Given the description of an element on the screen output the (x, y) to click on. 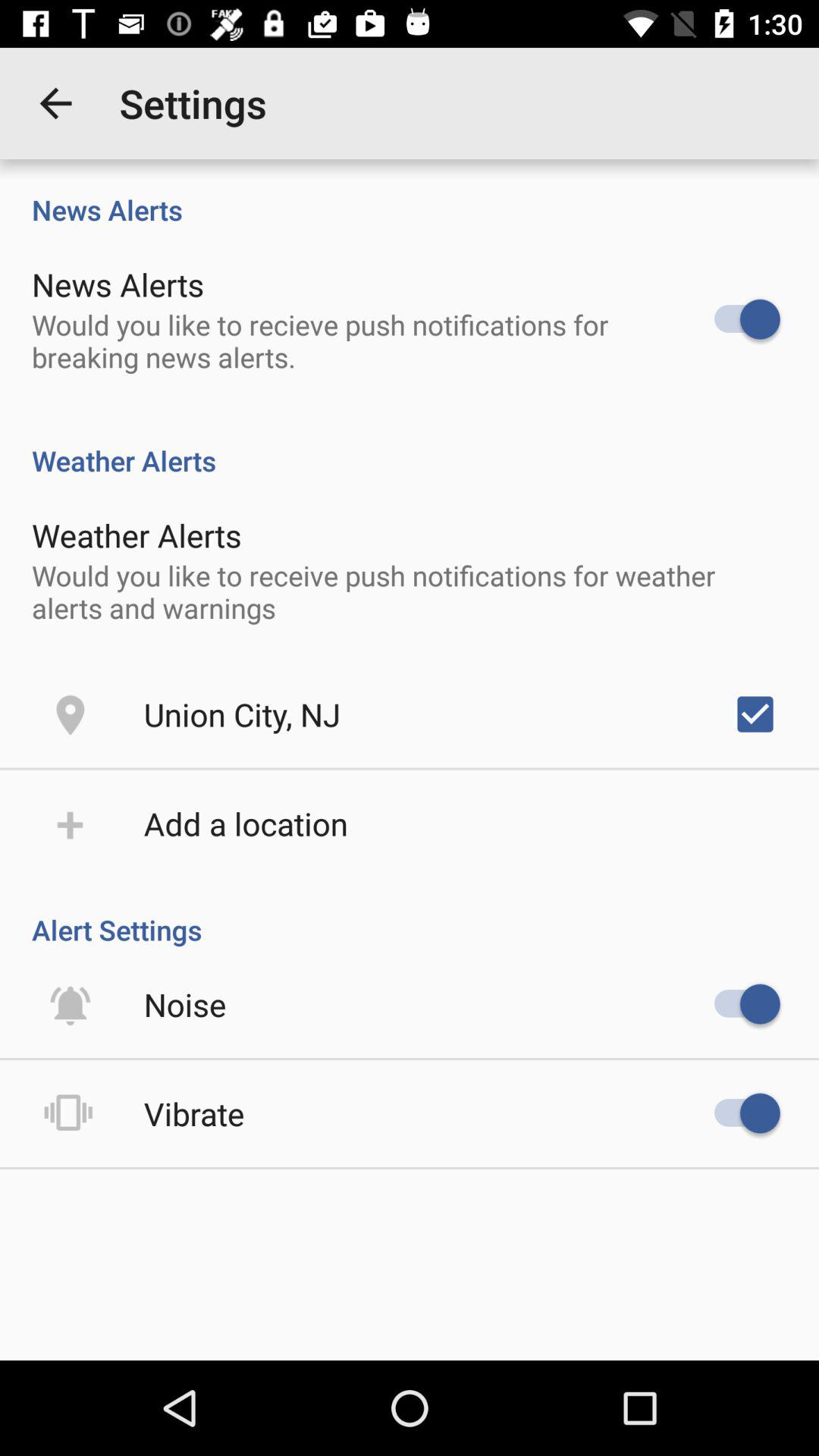
select icon below the would you like (755, 714)
